Given the description of an element on the screen output the (x, y) to click on. 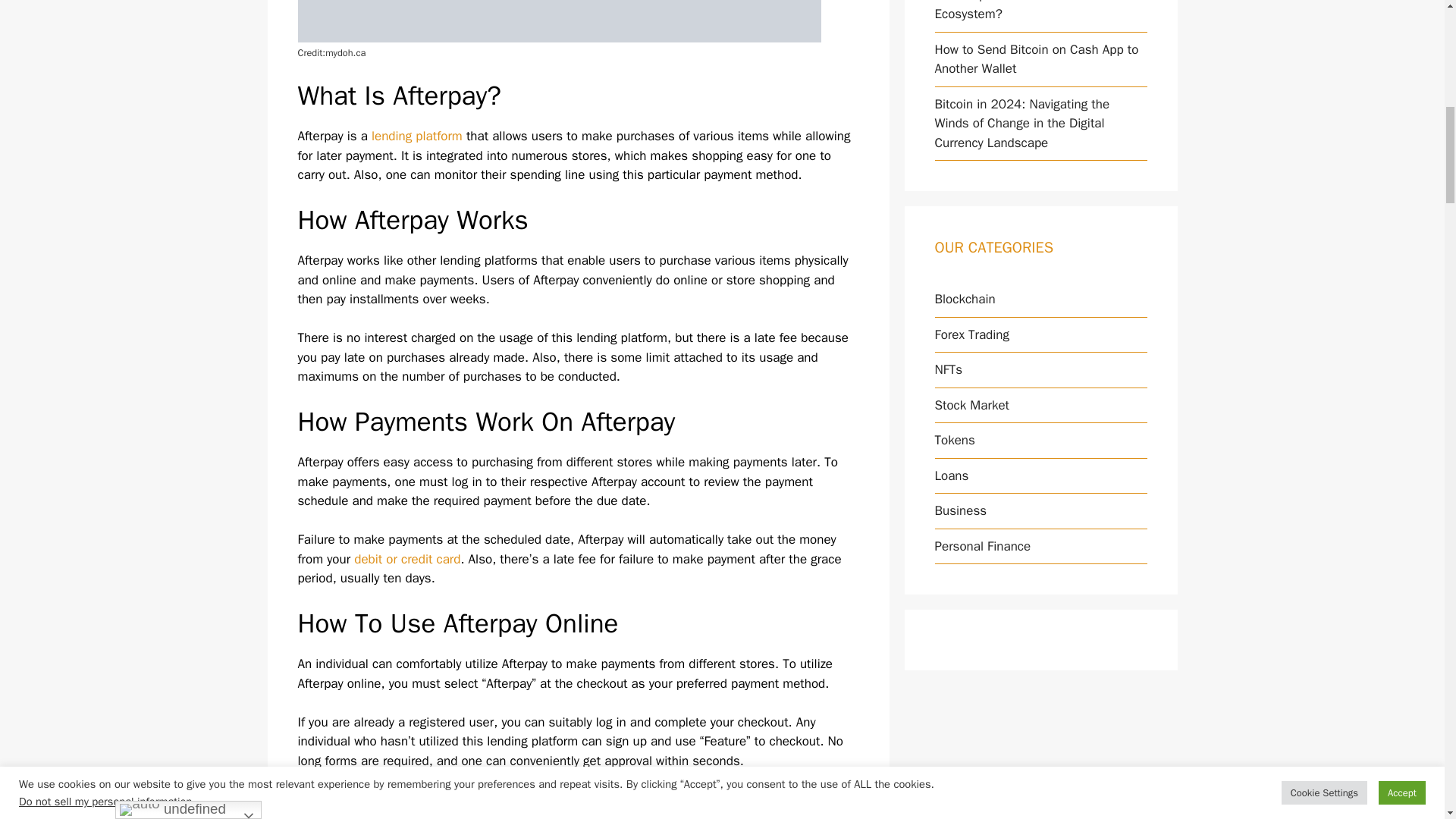
debit or credit card (406, 559)
lending platform (417, 135)
Scroll back to top (1406, 720)
How Afterpay Works - What You Need To Know Before Sign Up 5 (559, 20)
